Given the description of an element on the screen output the (x, y) to click on. 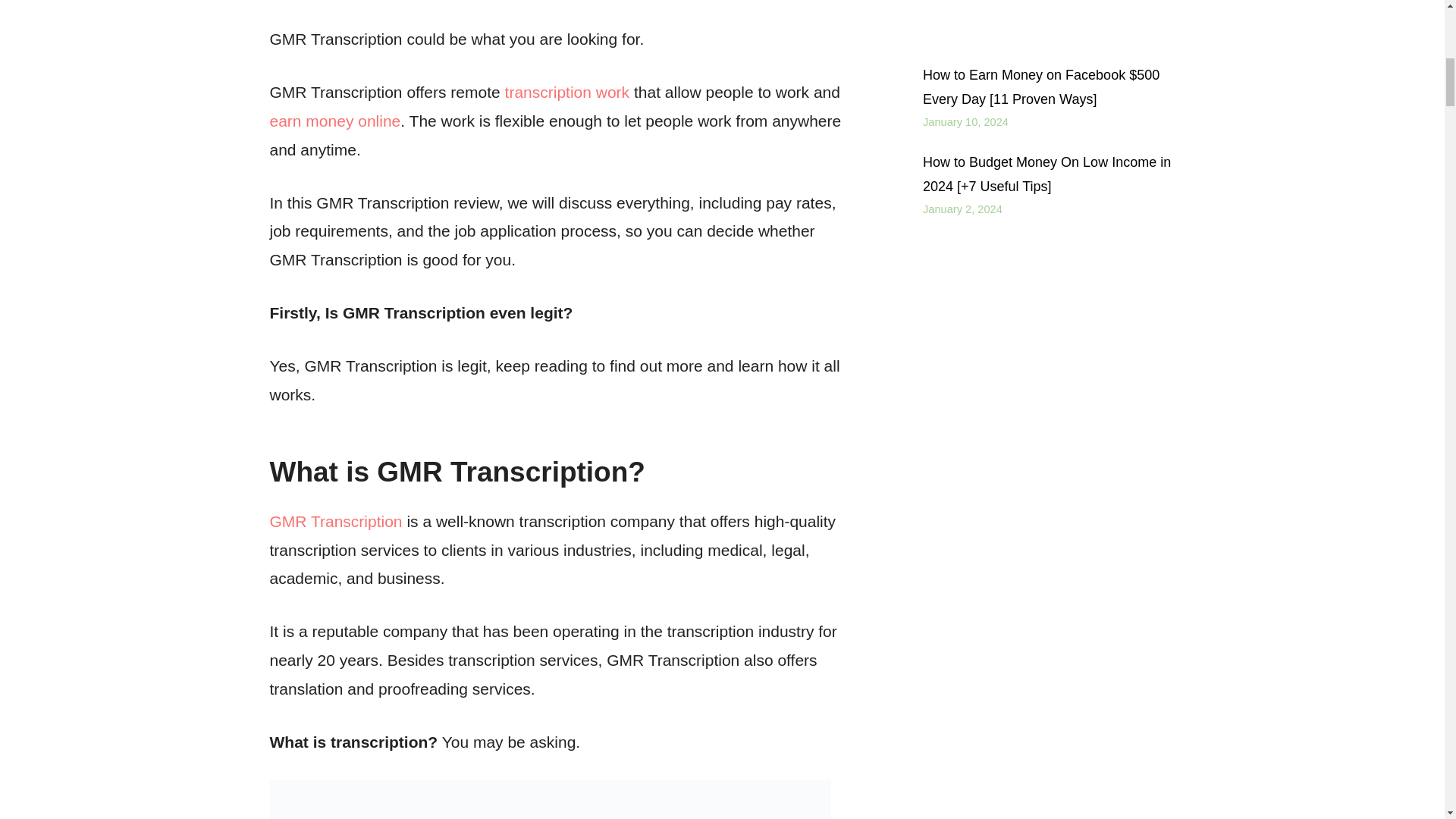
GMR Transcription (336, 520)
earn money online (335, 120)
transcription work (567, 91)
